Given the description of an element on the screen output the (x, y) to click on. 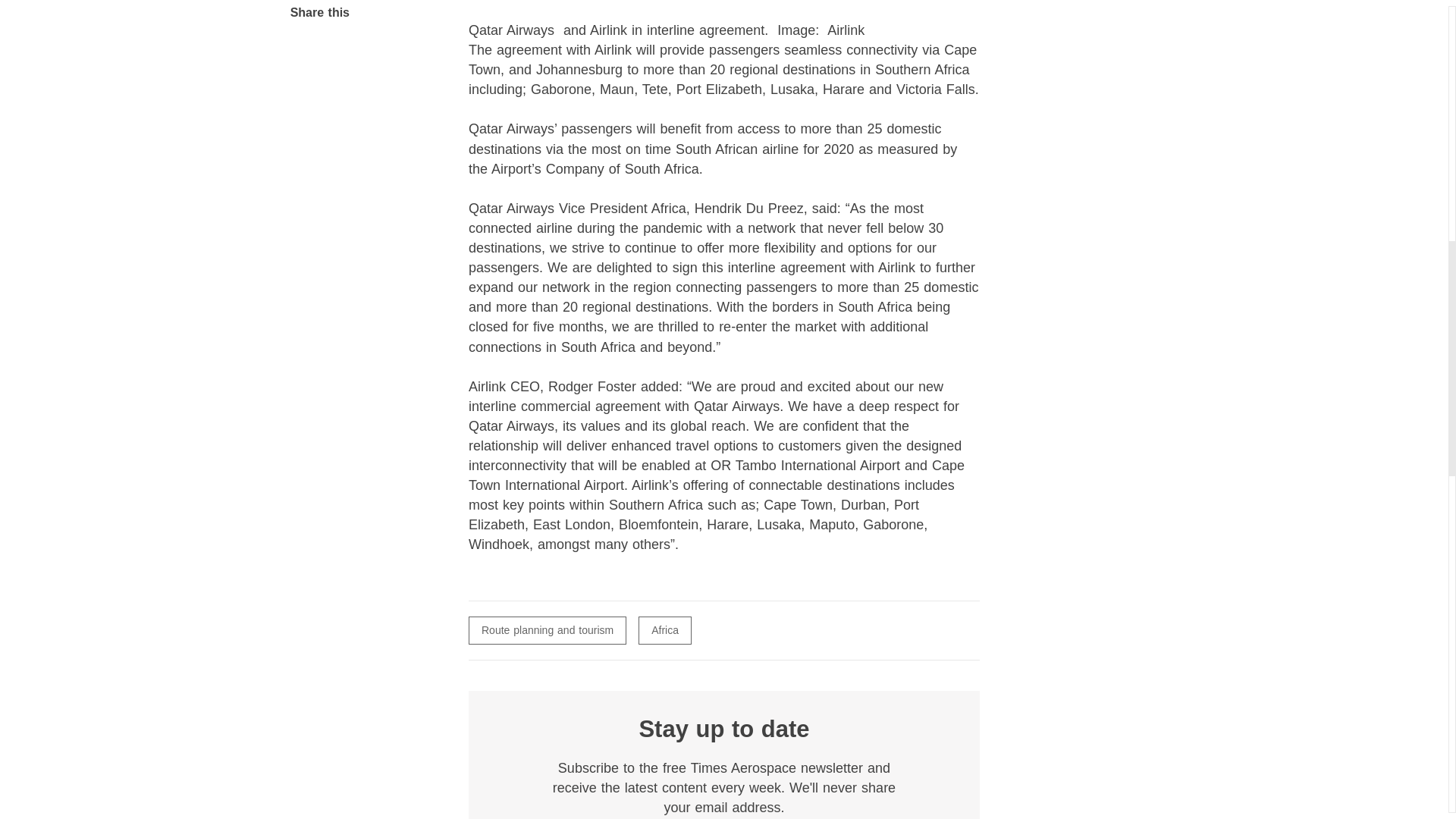
Route planning and tourism (547, 630)
Africa (665, 630)
